Given the description of an element on the screen output the (x, y) to click on. 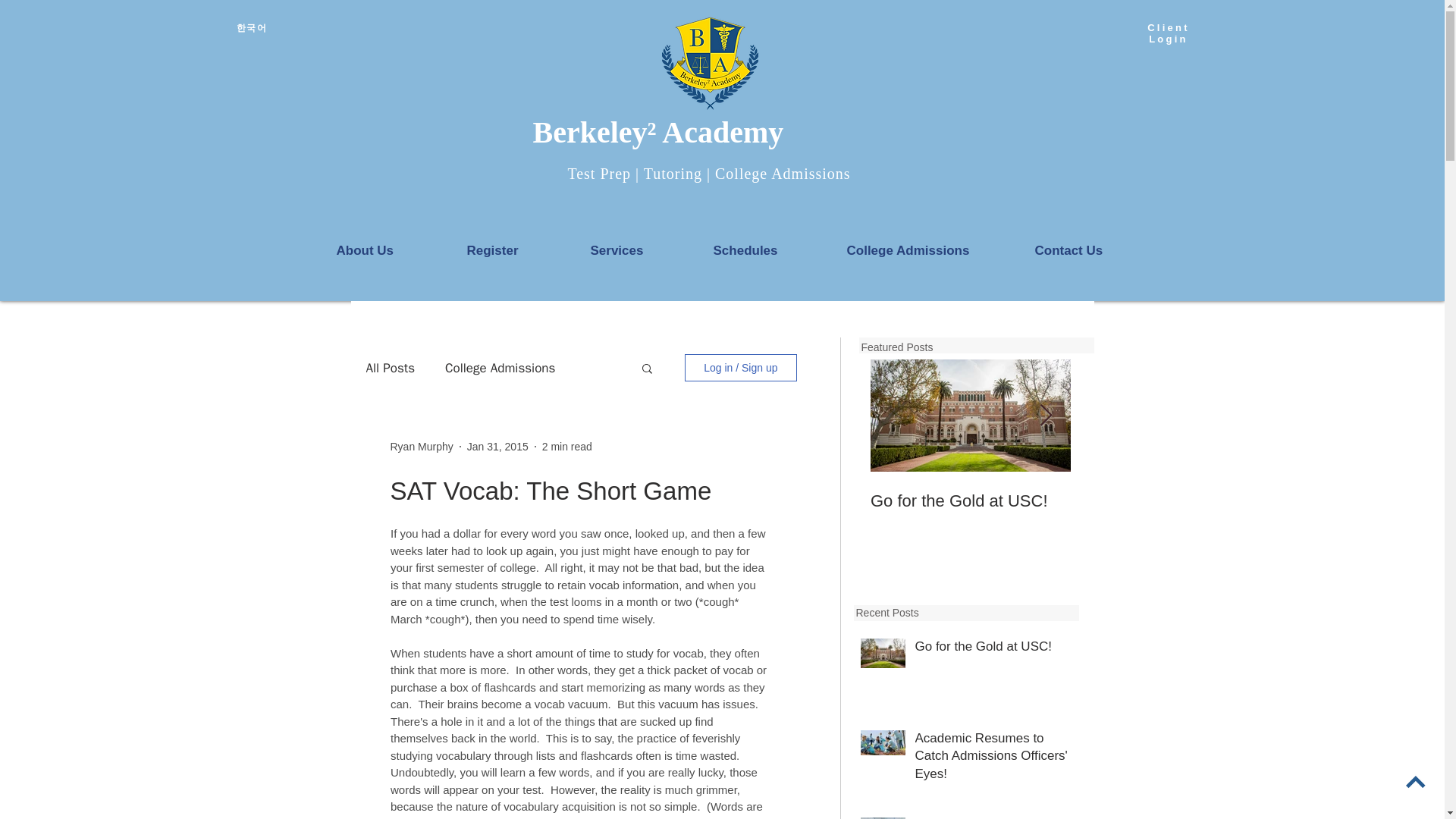
Ryan Murphy (421, 446)
2 min read (566, 445)
College Admissions (929, 250)
Contact Us (1093, 250)
Client Login (1168, 33)
All Posts (389, 367)
Jan 31, 2015 (497, 445)
Ryan Murphy (421, 446)
Schedules (768, 250)
College Admissions (499, 367)
About Us (389, 250)
Services (640, 250)
Register (516, 250)
